Given the description of an element on the screen output the (x, y) to click on. 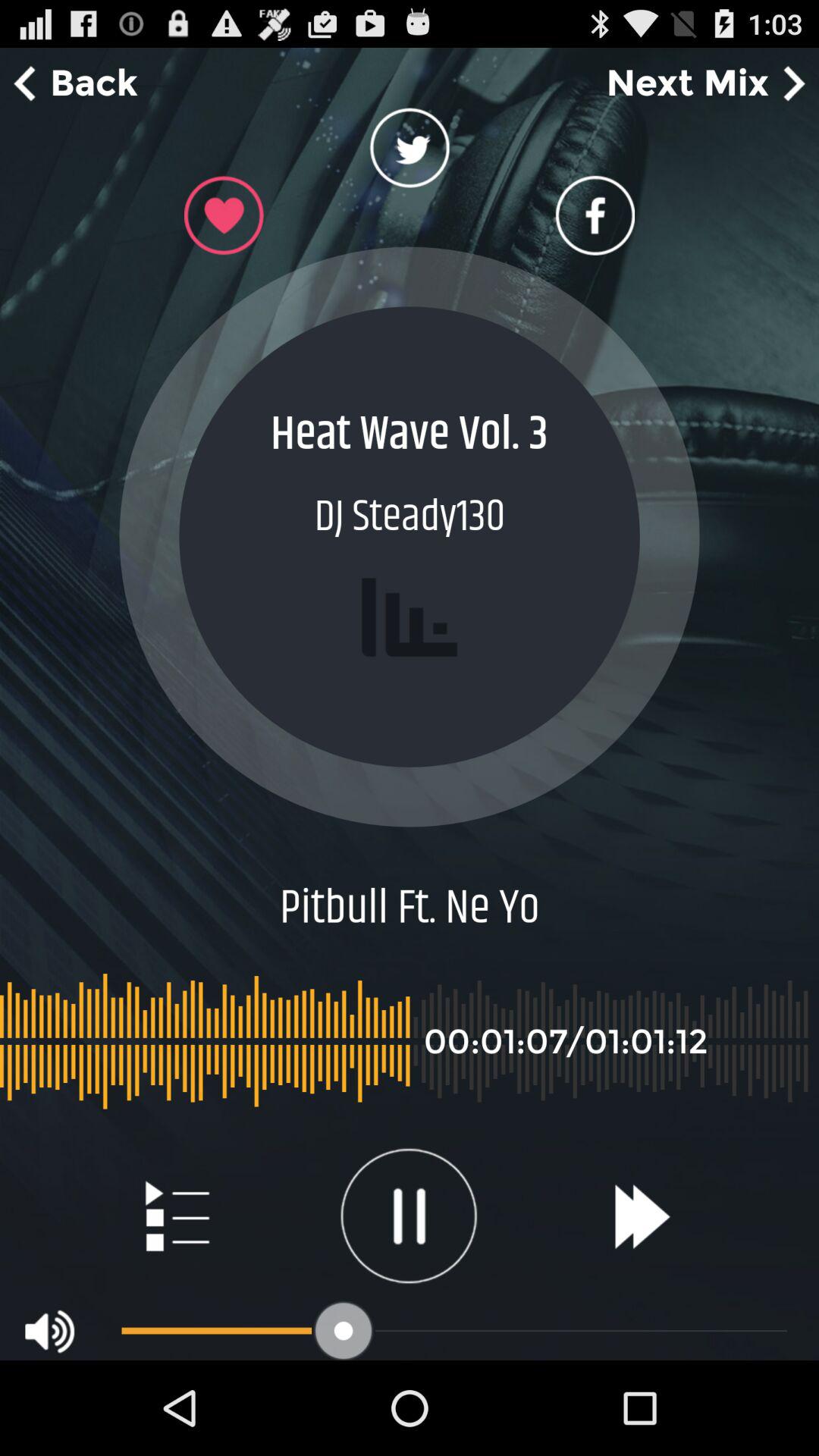
turn off the icon below next mix item (594, 215)
